Given the description of an element on the screen output the (x, y) to click on. 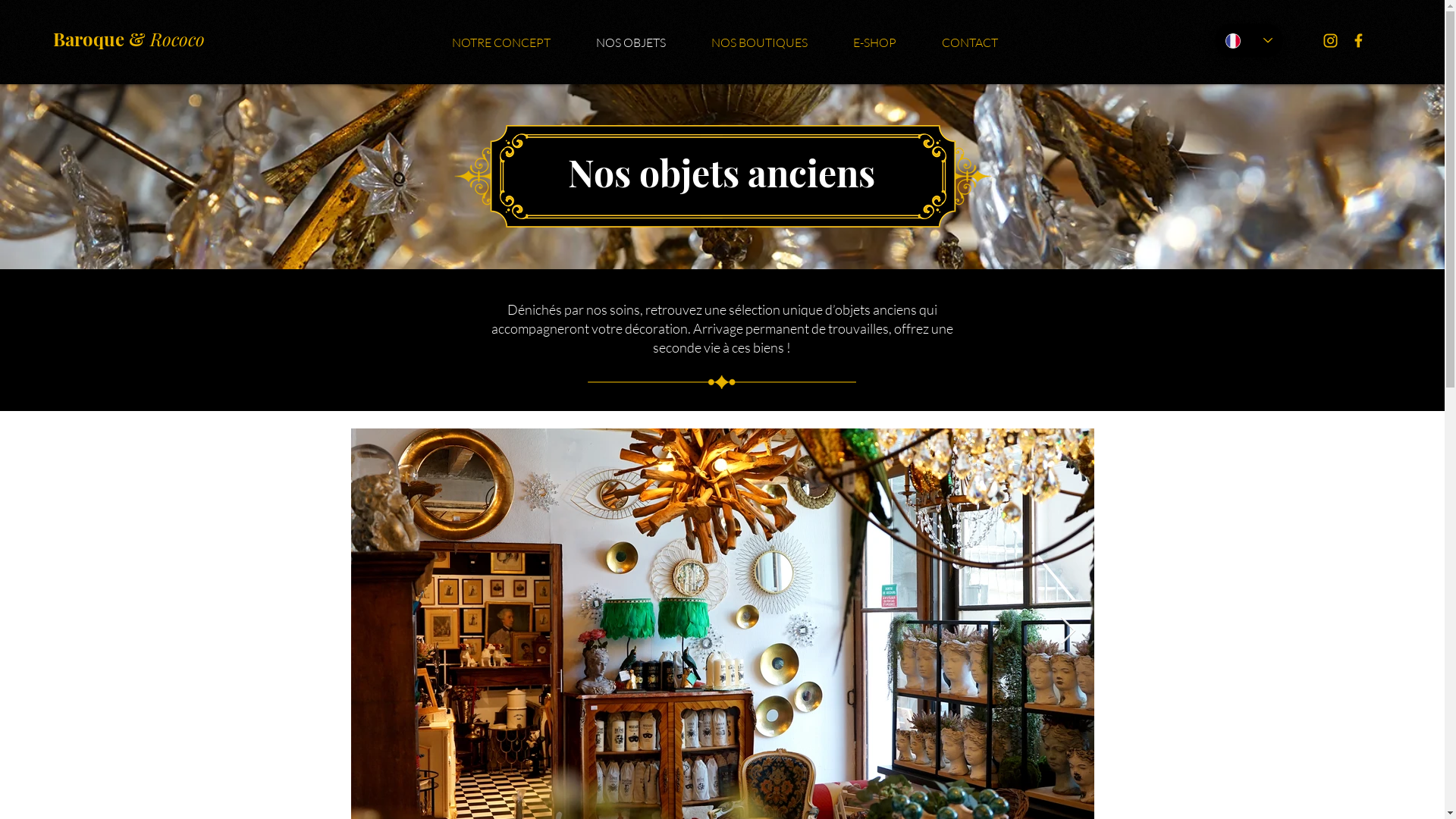
NOS OBJETS Element type: text (630, 42)
NOTRE CONCEPT Element type: text (501, 42)
NOS BOUTIQUES Element type: text (759, 42)
CONTACT Element type: text (969, 42)
Baroque & Rococo Element type: text (128, 38)
E-SHOP Element type: text (874, 42)
